Given the description of an element on the screen output the (x, y) to click on. 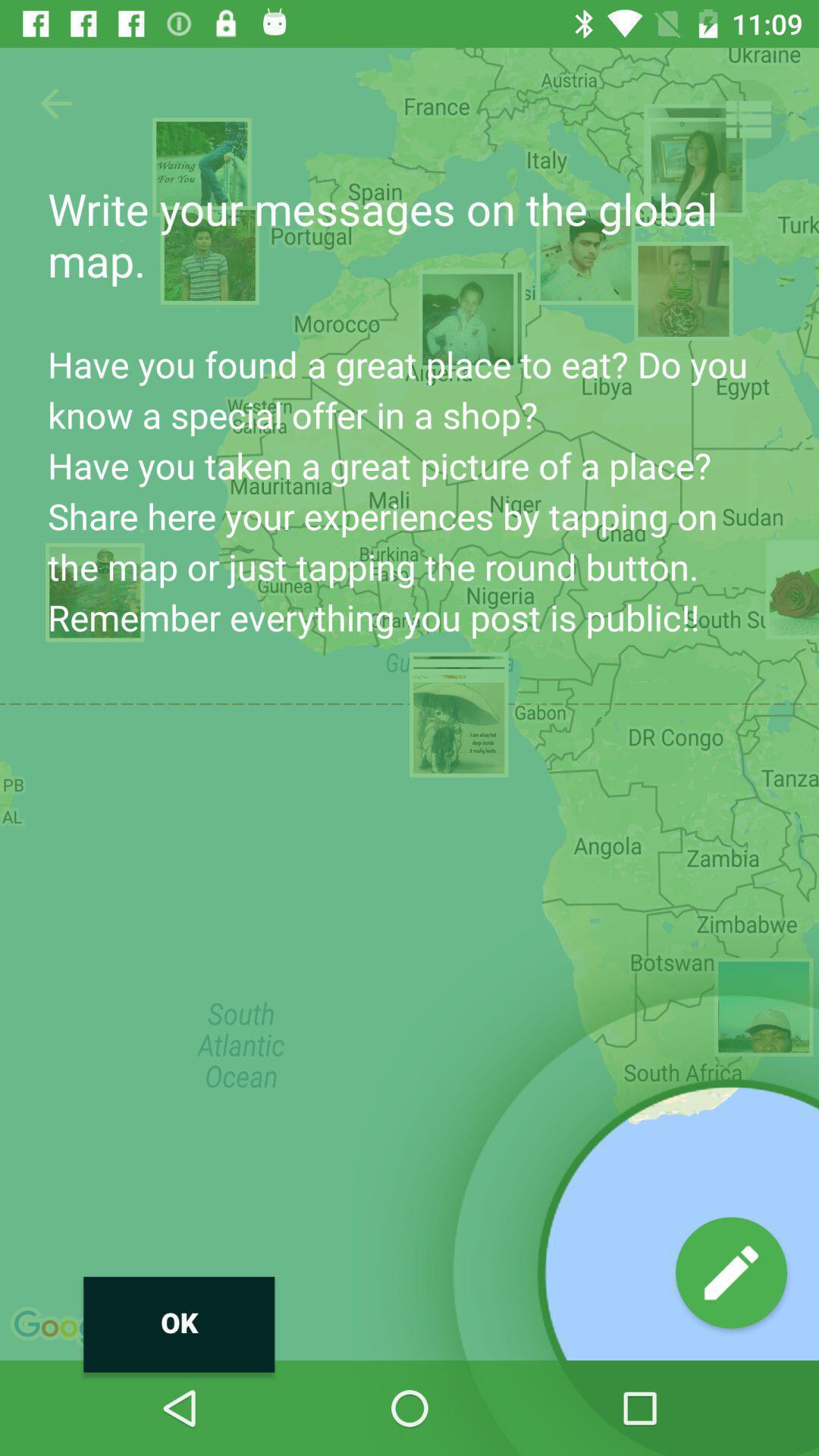
open menu (747, 119)
